Given the description of an element on the screen output the (x, y) to click on. 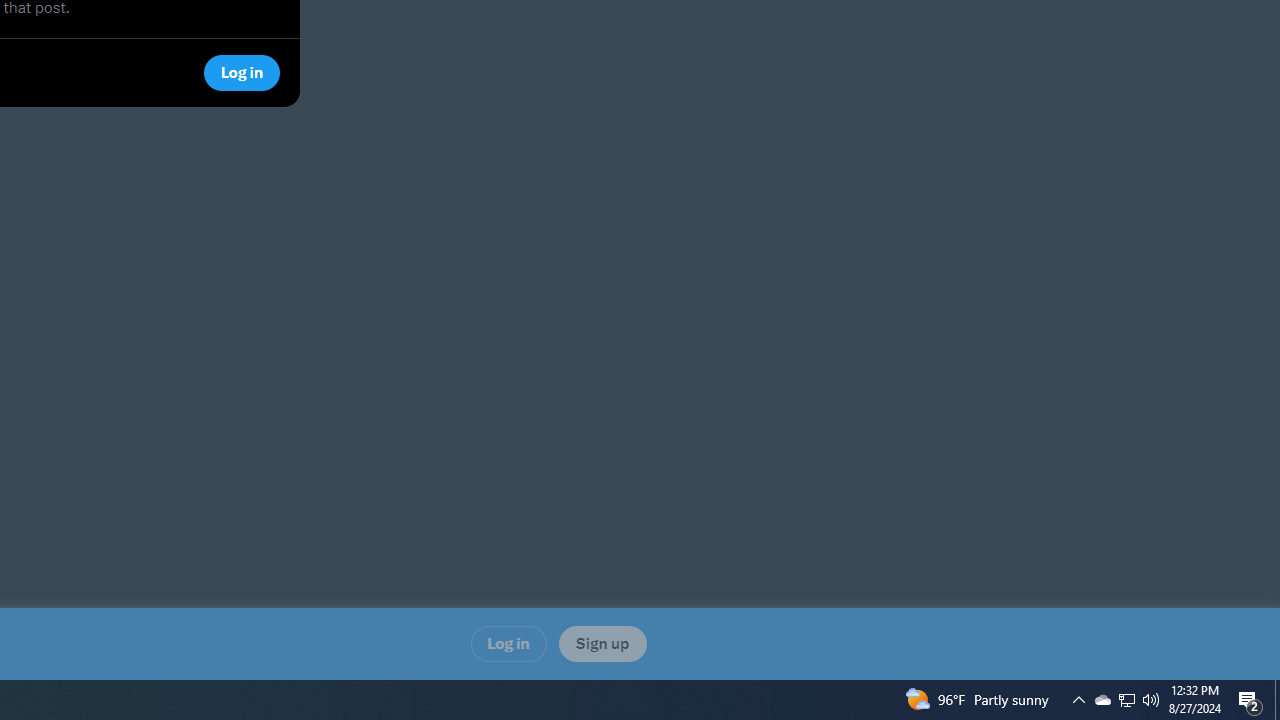
Log in (507, 643)
Sign up (602, 643)
